Given the description of an element on the screen output the (x, y) to click on. 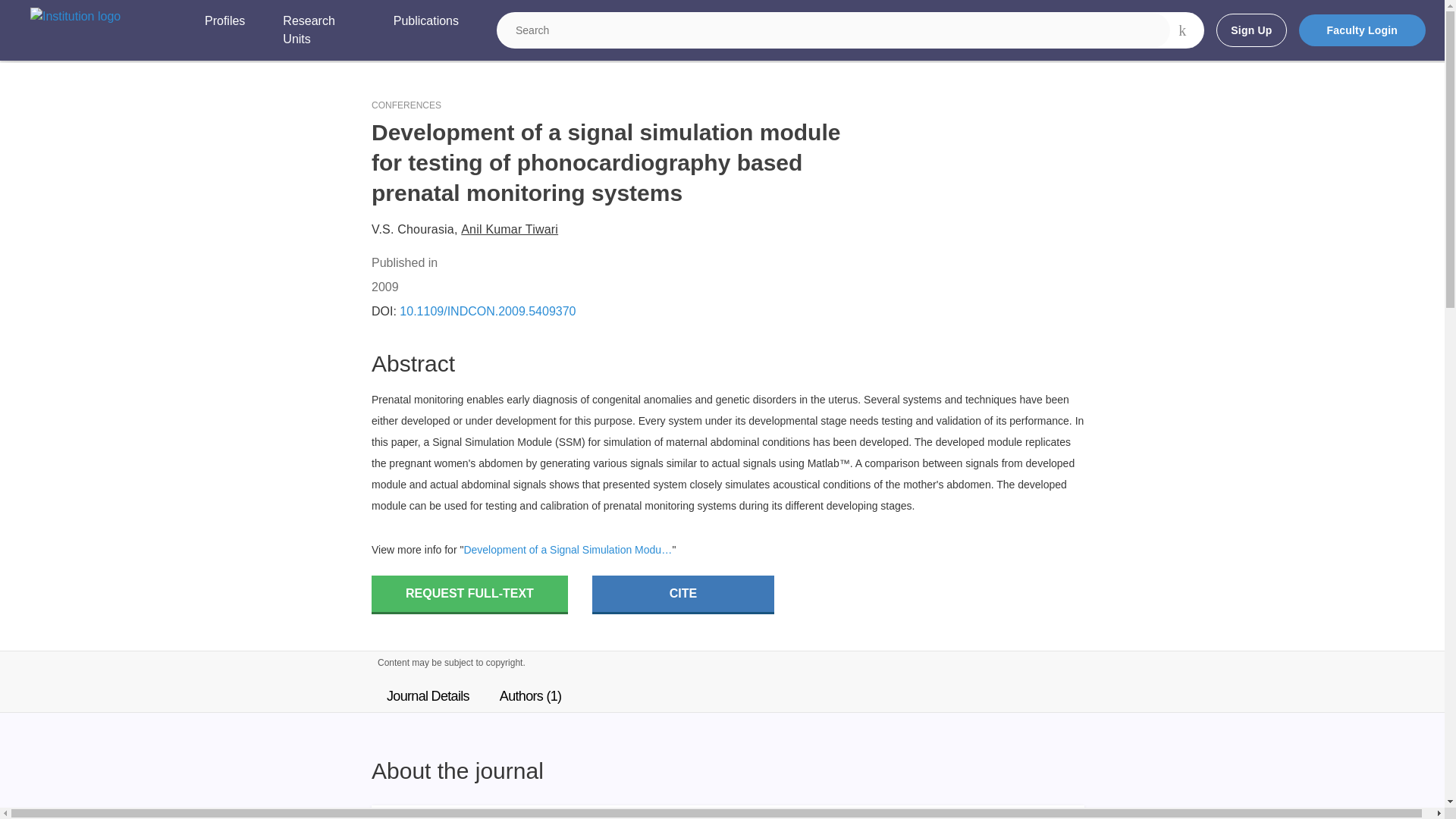
Profiles (224, 30)
Anil Kumar Tiwari (509, 228)
CITE (683, 594)
Institution logo (75, 16)
Publications (425, 30)
REQUEST FULL-TEXT (469, 594)
Faculty Login (1361, 29)
Journal Details (427, 695)
Research Units (318, 30)
Sign Up (1250, 29)
